Given the description of an element on the screen output the (x, y) to click on. 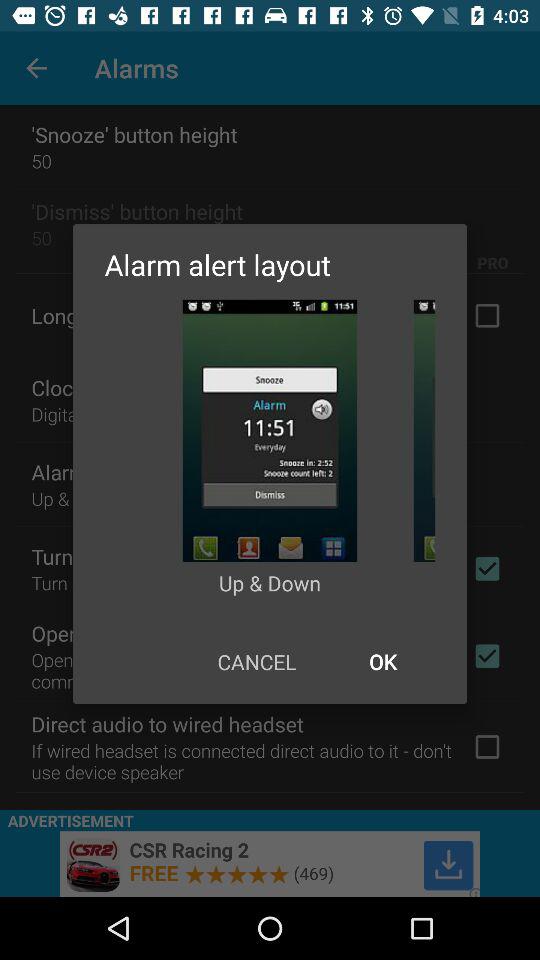
tap the icon below the up & down icon (382, 661)
